Given the description of an element on the screen output the (x, y) to click on. 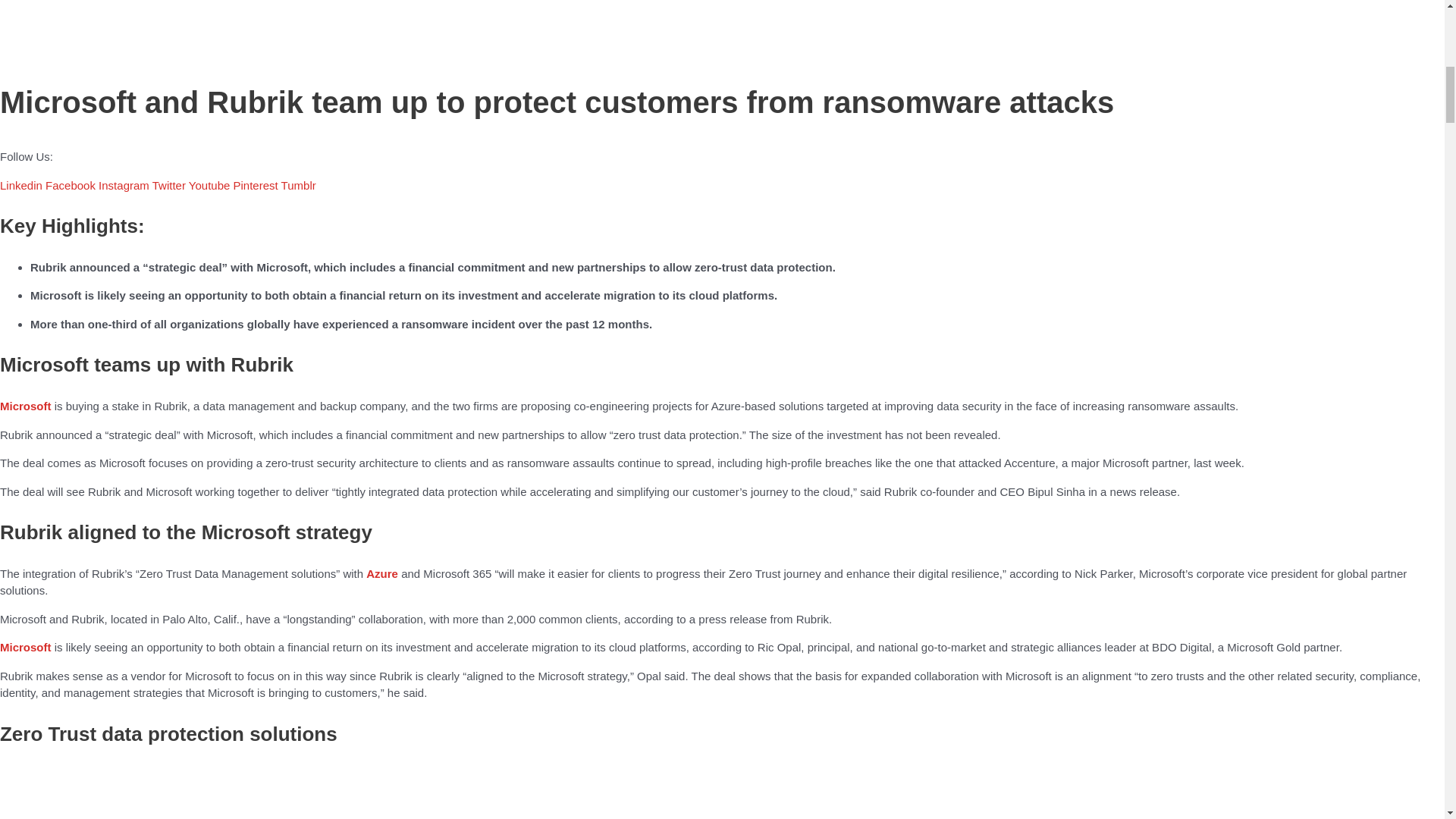
Linkedin (22, 185)
Microsoft (27, 646)
Twitter (170, 185)
Microsoft (27, 405)
Tumblr (298, 185)
Azure (381, 573)
Instagram (125, 185)
Youtube (210, 185)
Facebook (72, 185)
Pinterest (256, 185)
